Given the description of an element on the screen output the (x, y) to click on. 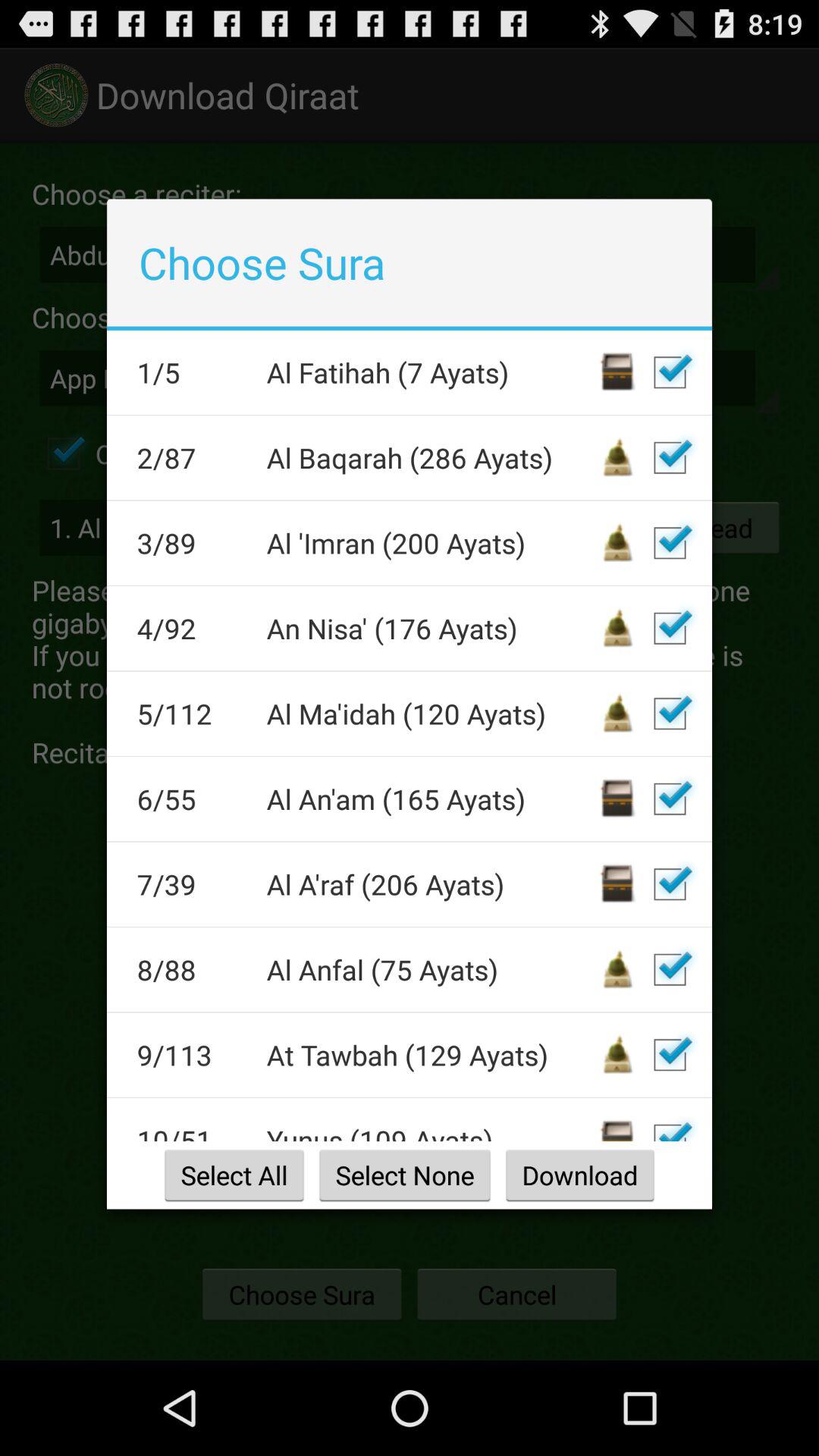
mark for deletion (669, 713)
